Given the description of an element on the screen output the (x, y) to click on. 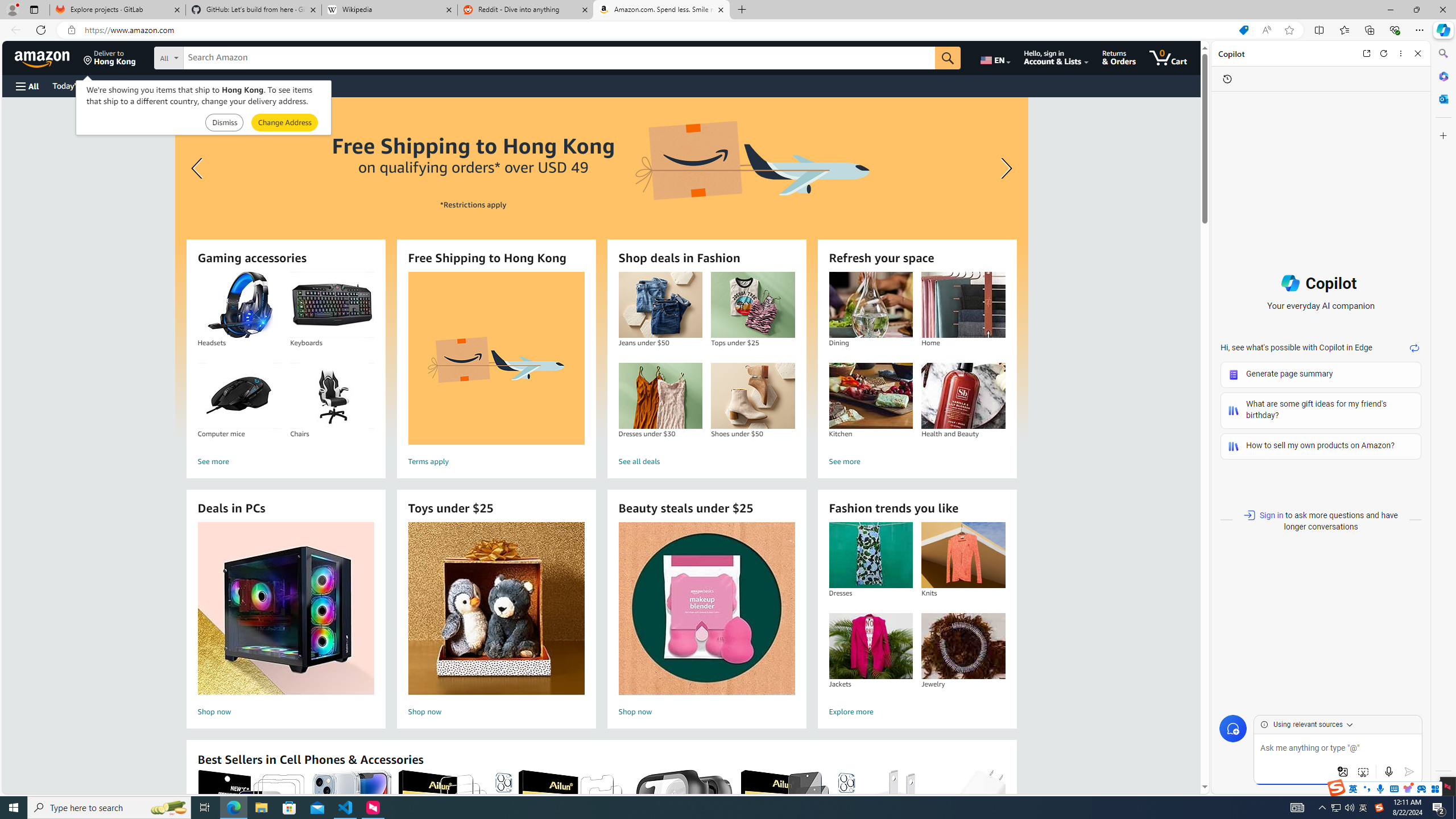
Class: a-carousel-card (600, 267)
Search Amazon (559, 57)
Computer mice (239, 395)
Chairs (331, 395)
Free Shipping to Hong Kong Terms apply (495, 370)
Health and Beauty (963, 395)
Headsets (239, 304)
Shoes under $50 (752, 395)
